Given the description of an element on the screen output the (x, y) to click on. 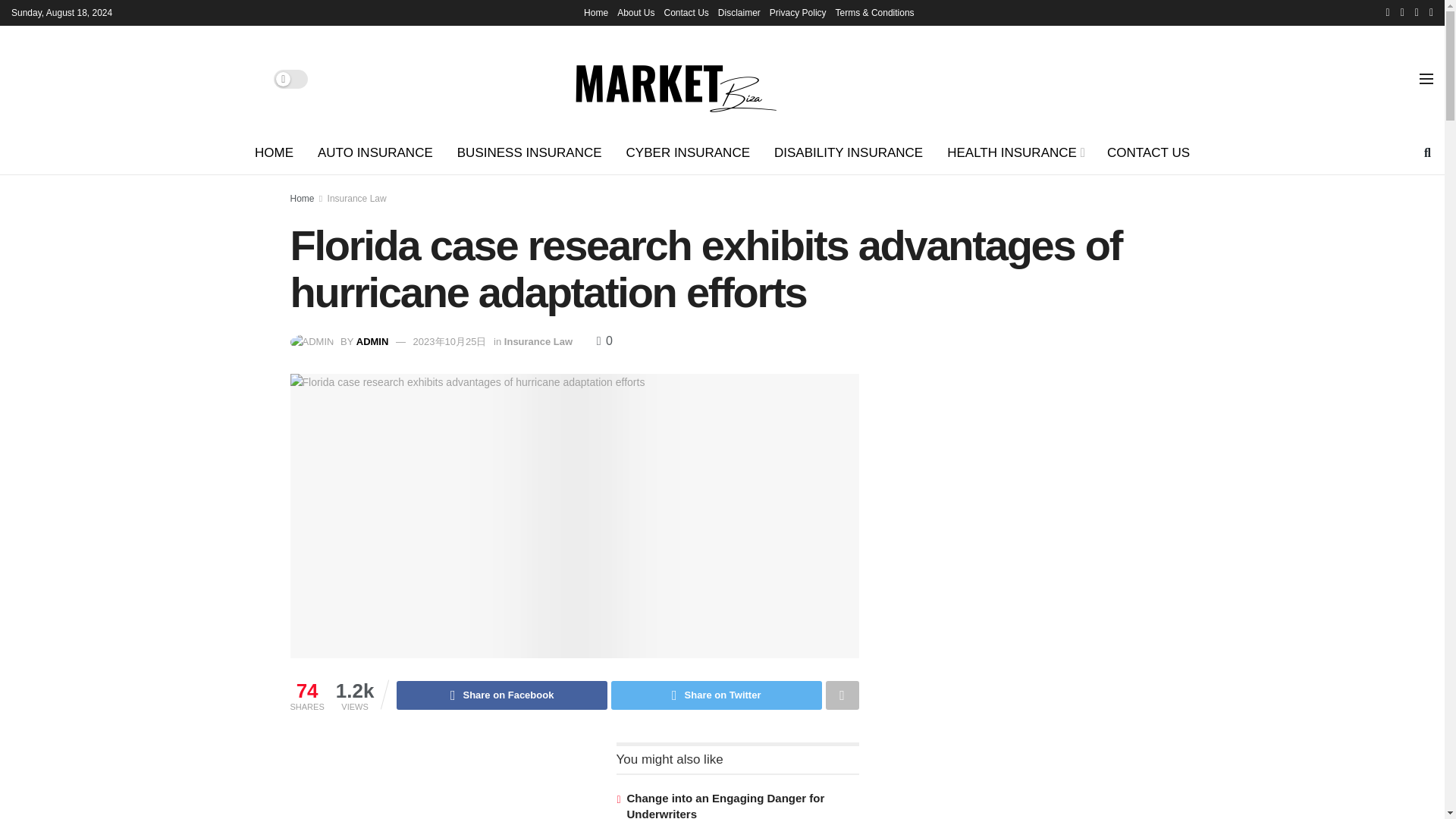
CONTACT US (1148, 152)
HOME (274, 152)
Disclaimer (738, 12)
Contact Us (685, 12)
About Us (635, 12)
Privacy Policy (798, 12)
HEALTH INSURANCE (1014, 152)
BUSINESS INSURANCE (529, 152)
AUTO INSURANCE (375, 152)
DISABILITY INSURANCE (847, 152)
